Given the description of an element on the screen output the (x, y) to click on. 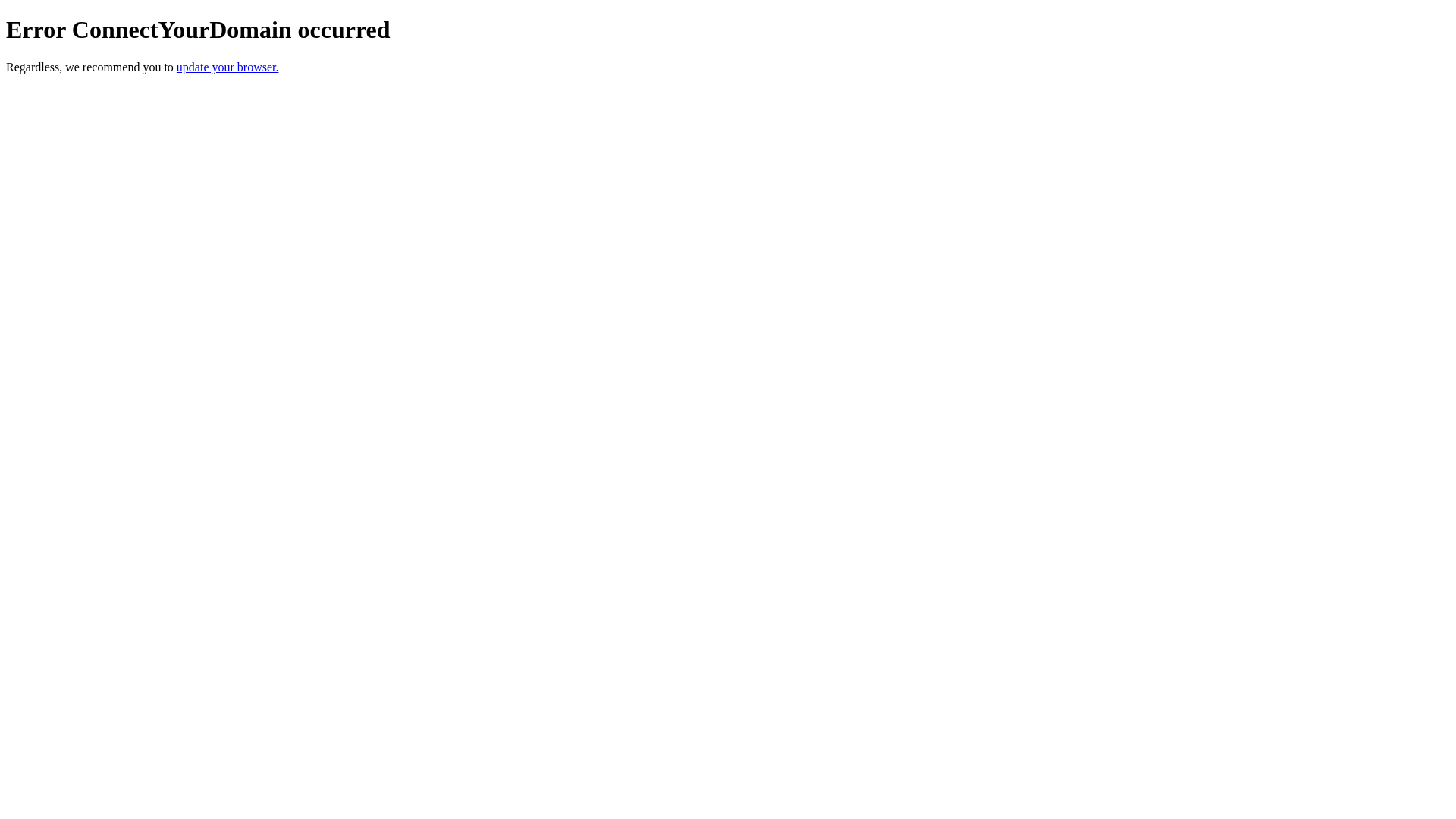
update your browser. Element type: text (227, 66)
